Given the description of an element on the screen output the (x, y) to click on. 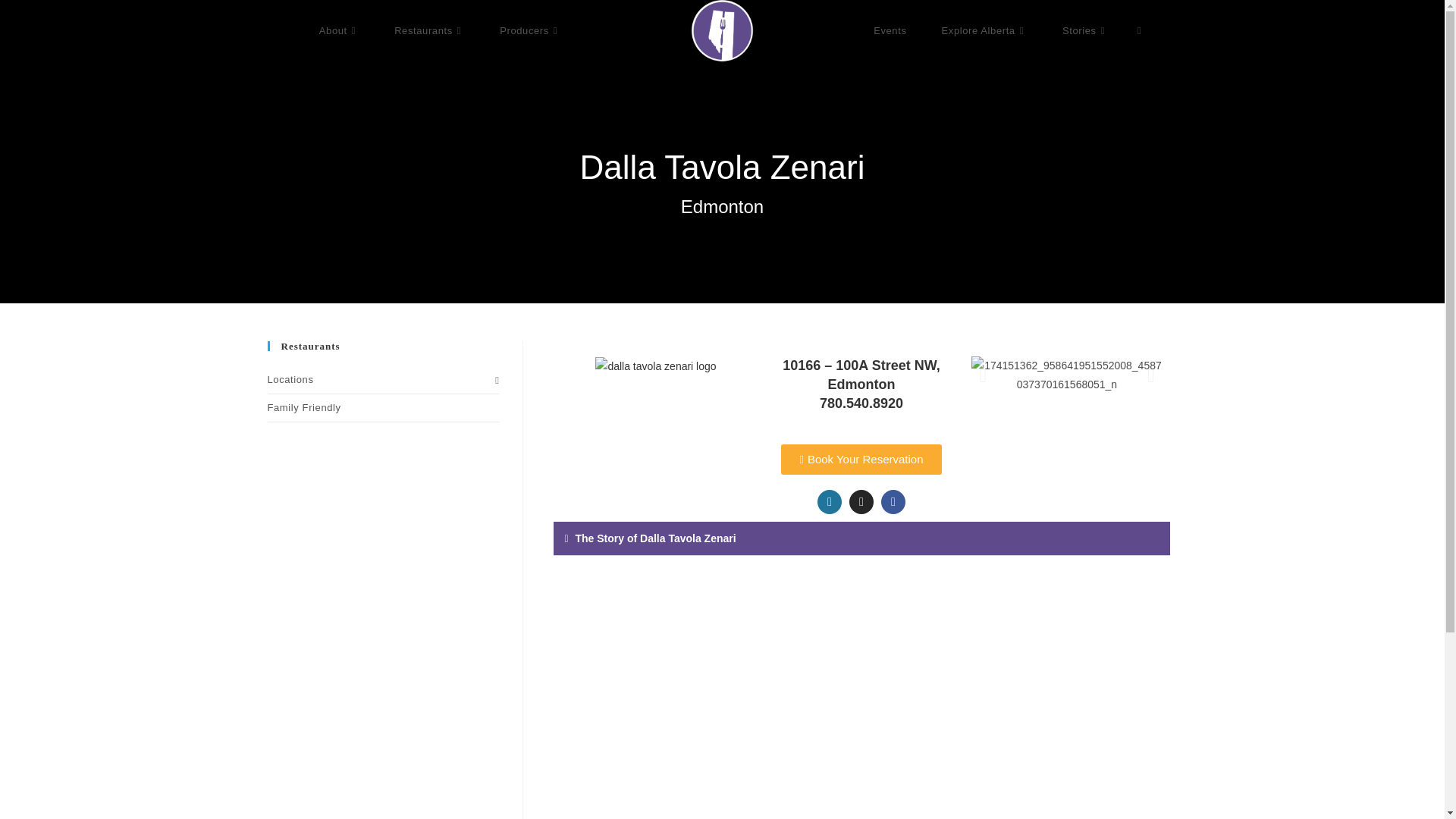
Producers (529, 30)
About (339, 30)
Explore Alberta (984, 30)
dalla tavola zenari logo (655, 366)
Events (889, 30)
Restaurants (429, 30)
Stories (1085, 30)
